Given the description of an element on the screen output the (x, y) to click on. 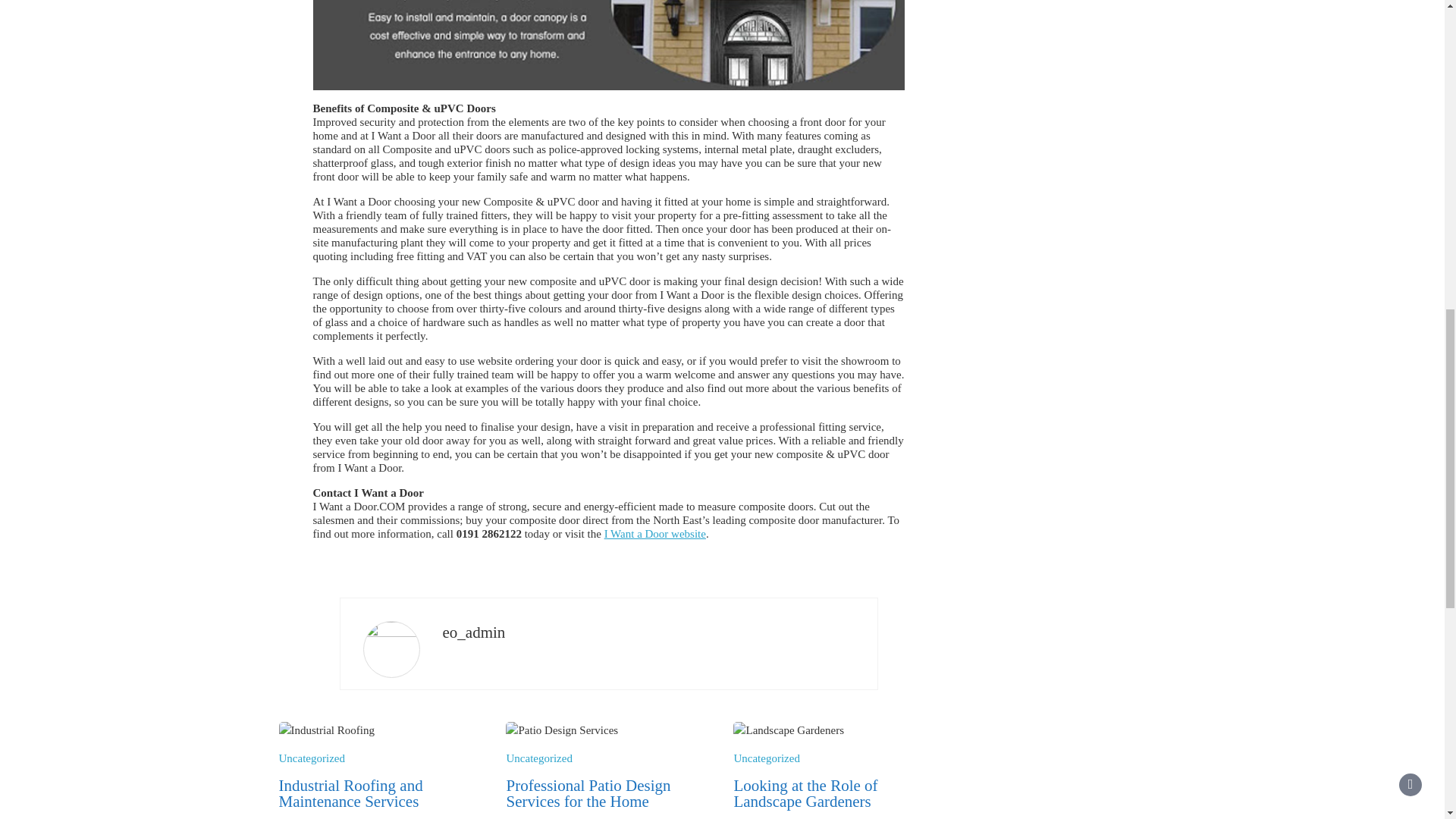
I Want a Door website (655, 533)
Uncategorized (312, 758)
Professional Patio Design Services for the Home (587, 793)
Industrial Roofing and Maintenance Services (351, 793)
Uncategorized (766, 758)
Looking at the Role of Landscape Gardeners (805, 793)
Uncategorized (538, 758)
